Given the description of an element on the screen output the (x, y) to click on. 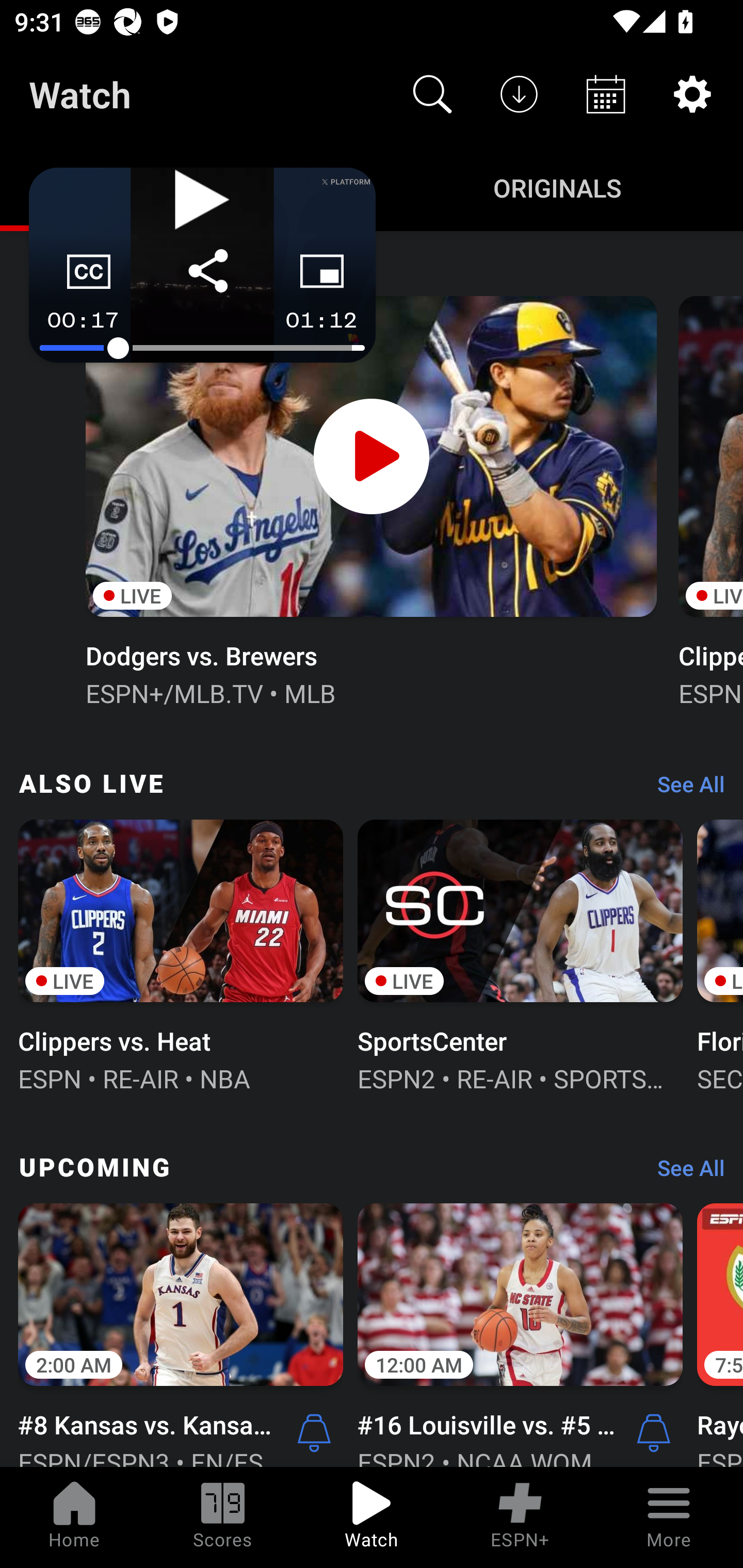
Search (432, 93)
Downloads (518, 93)
Schedule (605, 93)
Settings (692, 93)
Originals ORIGINALS (557, 187)
 LIVE Dodgers vs. Brewers ESPN+/MLB.TV • MLB (370, 499)
See All (683, 788)
LIVE Clippers vs. Heat ESPN • RE-AIR • NBA (180, 954)
LIVE SportsCenter ESPN2 • RE-AIR • SPORTSCENTER (519, 954)
See All (683, 1172)
Alerts (314, 1432)
Alerts (653, 1432)
Home (74, 1517)
Scores (222, 1517)
ESPN+ (519, 1517)
More (668, 1517)
